Given the description of an element on the screen output the (x, y) to click on. 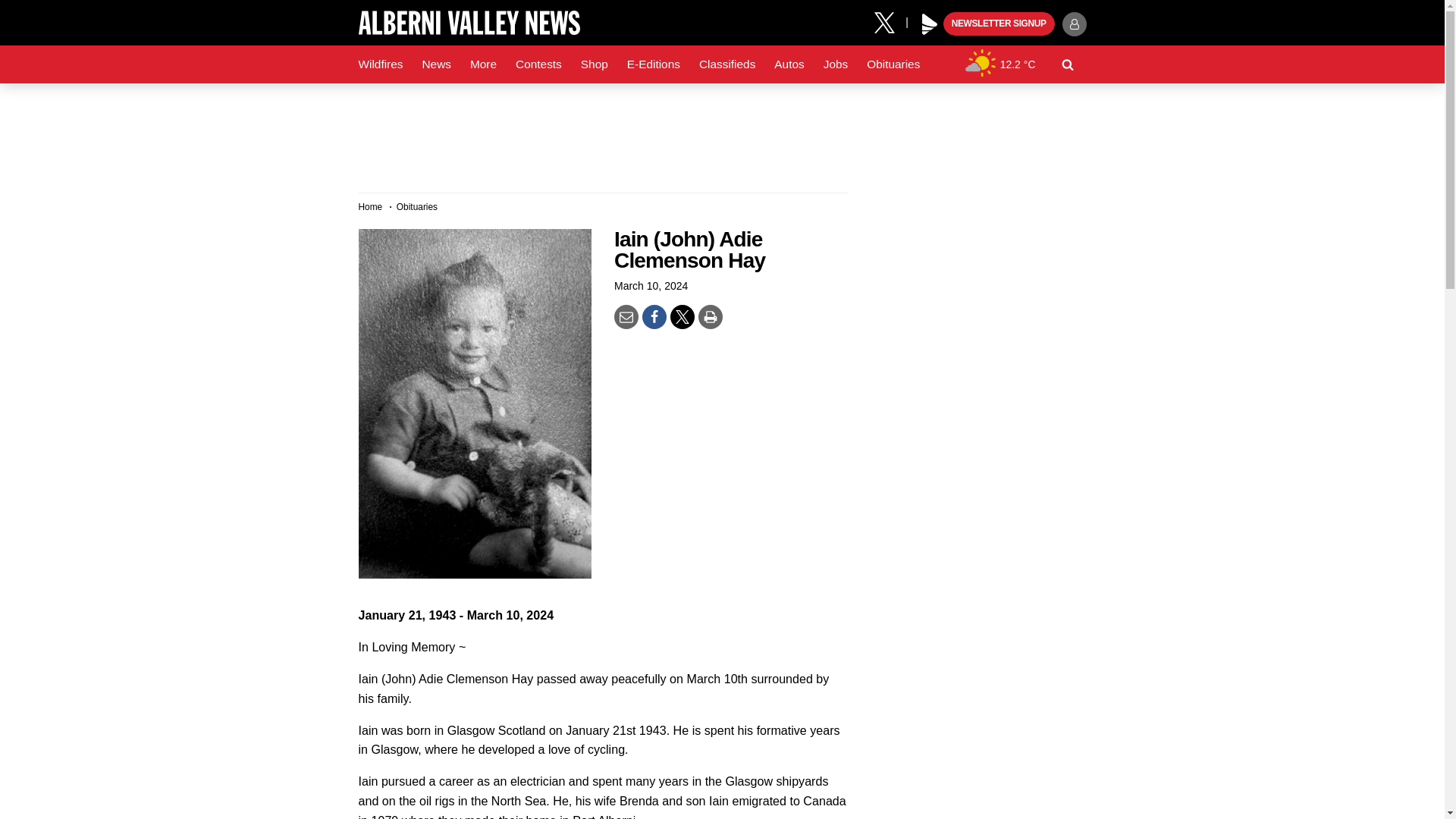
News (435, 64)
Play (929, 24)
Black Press Media (929, 24)
X (889, 21)
Wildfires (380, 64)
NEWSLETTER SIGNUP (998, 24)
